Given the description of an element on the screen output the (x, y) to click on. 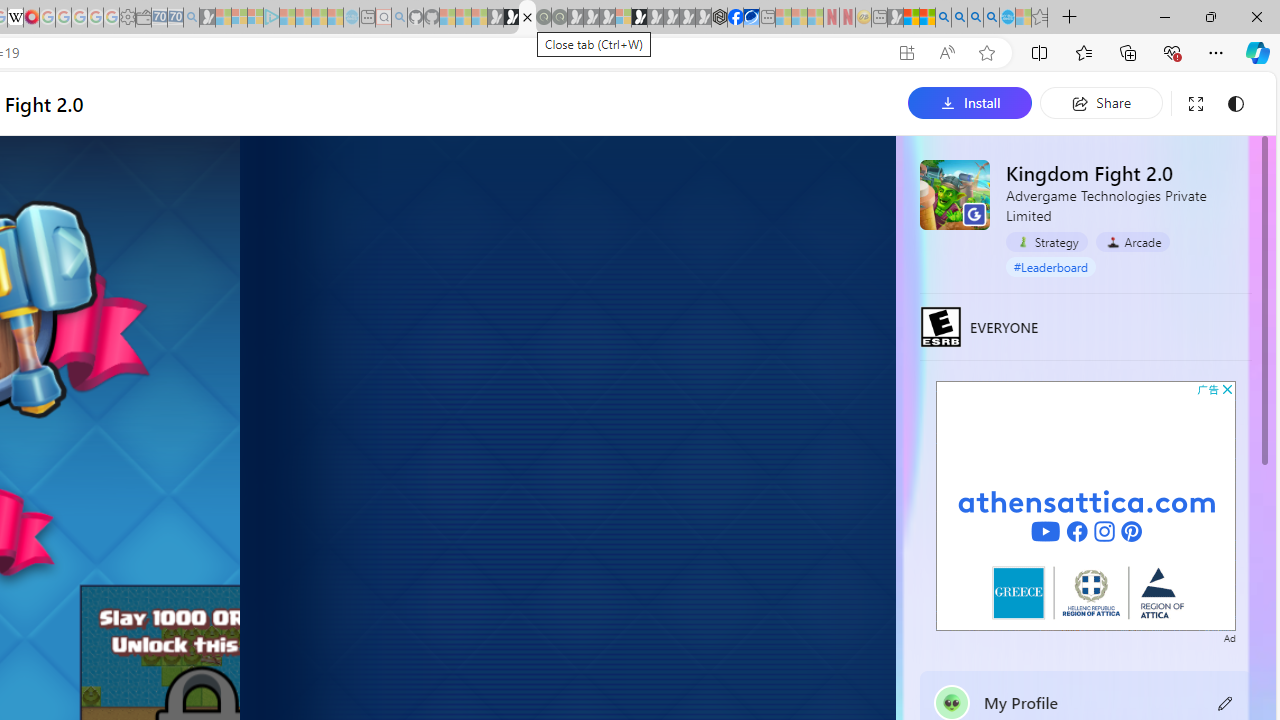
AutomationID: cbb (1227, 389)
Class: button edit-icon (1225, 702)
Kingdom Fight 2.0 (954, 194)
Microsoft Start Gaming - Sleeping (207, 17)
Strategy (1047, 241)
App available. Install Kingdom Fight 2.0 (906, 53)
MediaWiki (31, 17)
""'s avatar (952, 702)
Full screen (1195, 103)
